Given the description of an element on the screen output the (x, y) to click on. 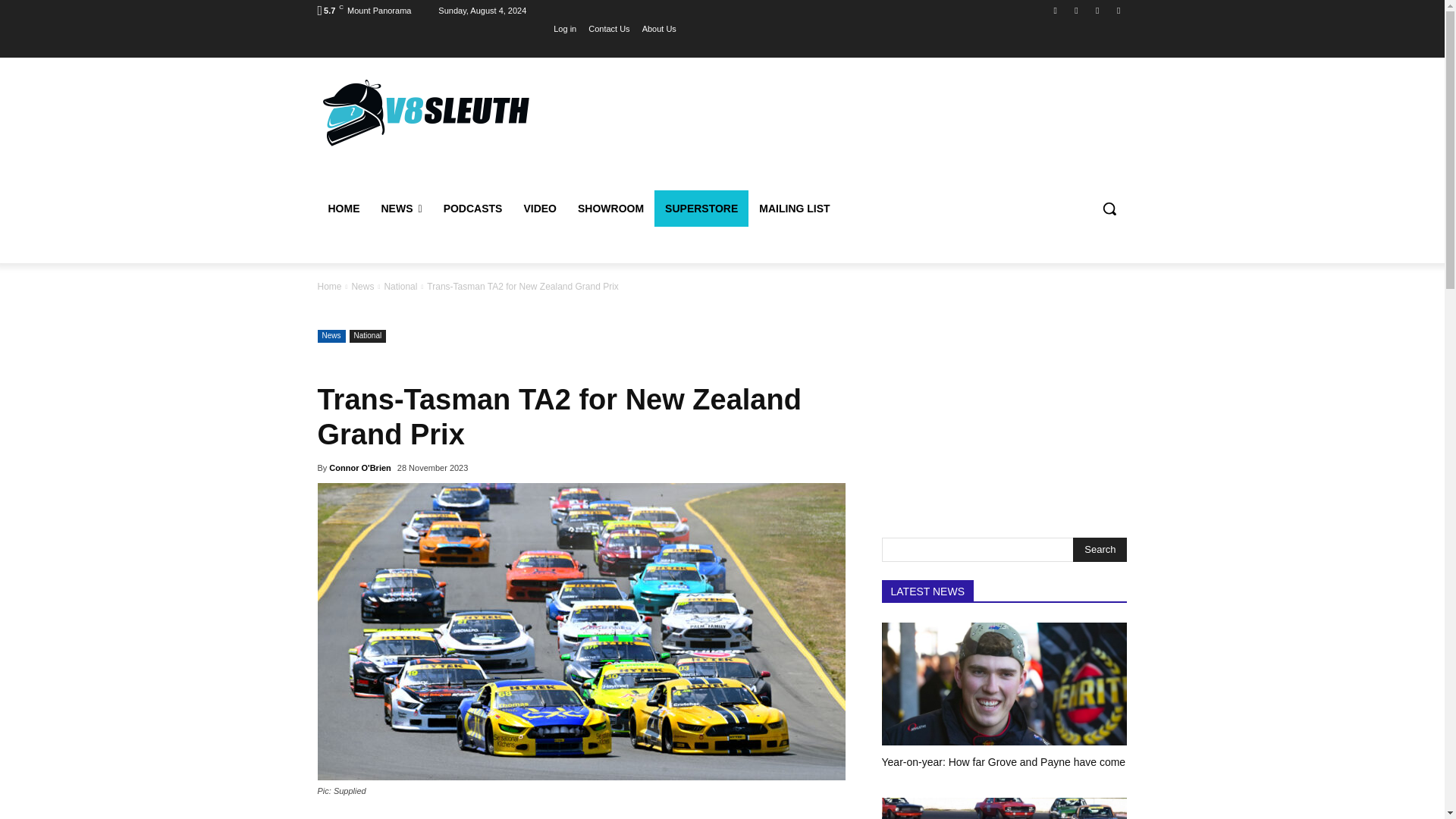
HOME (343, 208)
Log in (564, 28)
Youtube (1117, 9)
About Us (659, 28)
Facebook (1055, 9)
NEWS (400, 208)
Twitter (1097, 9)
Contact Us (608, 28)
Instagram (1075, 9)
